Given the description of an element on the screen output the (x, y) to click on. 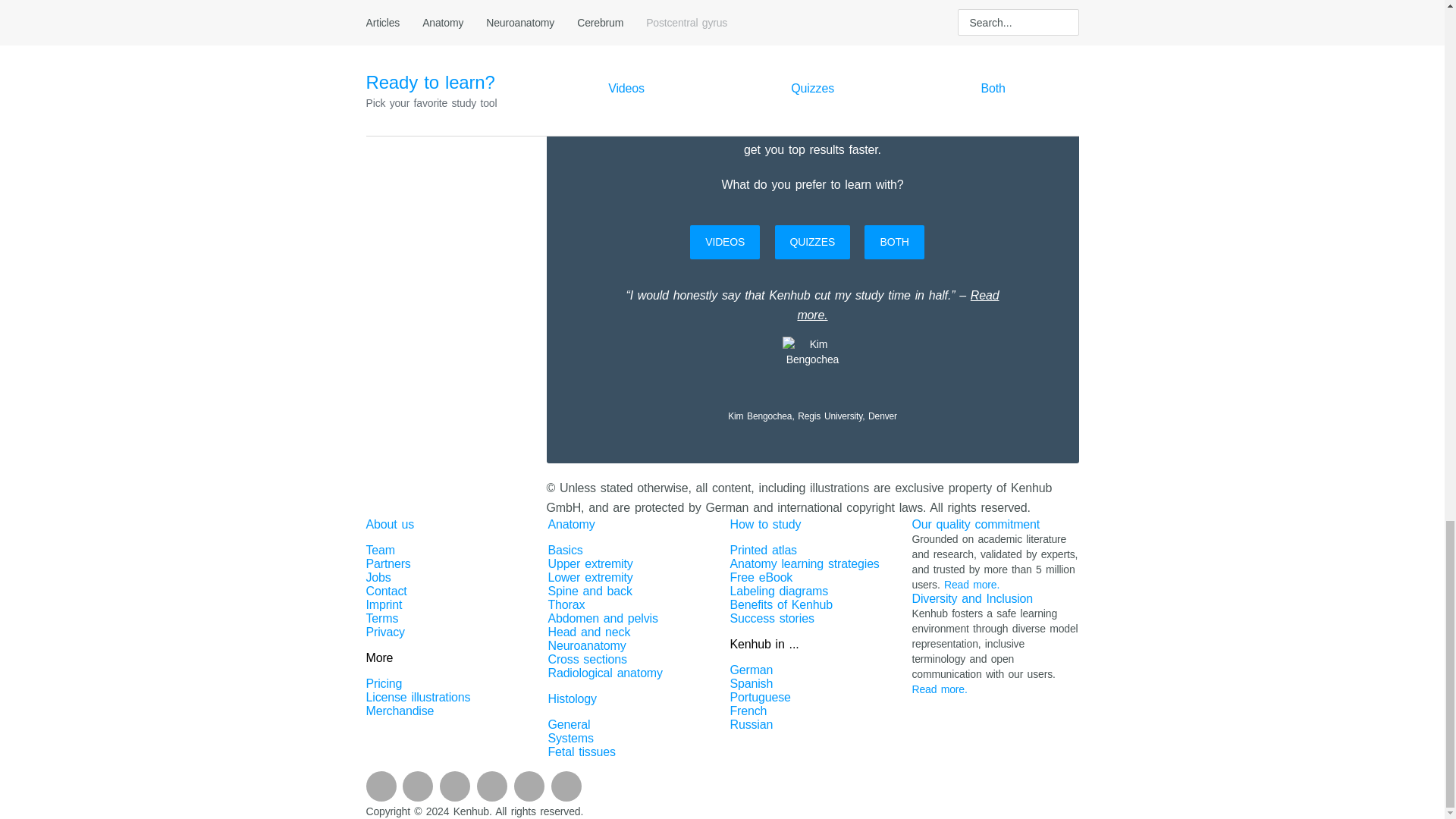
Tiktok (565, 786)
Twitter (528, 786)
Instagram (454, 786)
Youtube (417, 786)
Pinterest (491, 786)
Facebook (380, 786)
